Given the description of an element on the screen output the (x, y) to click on. 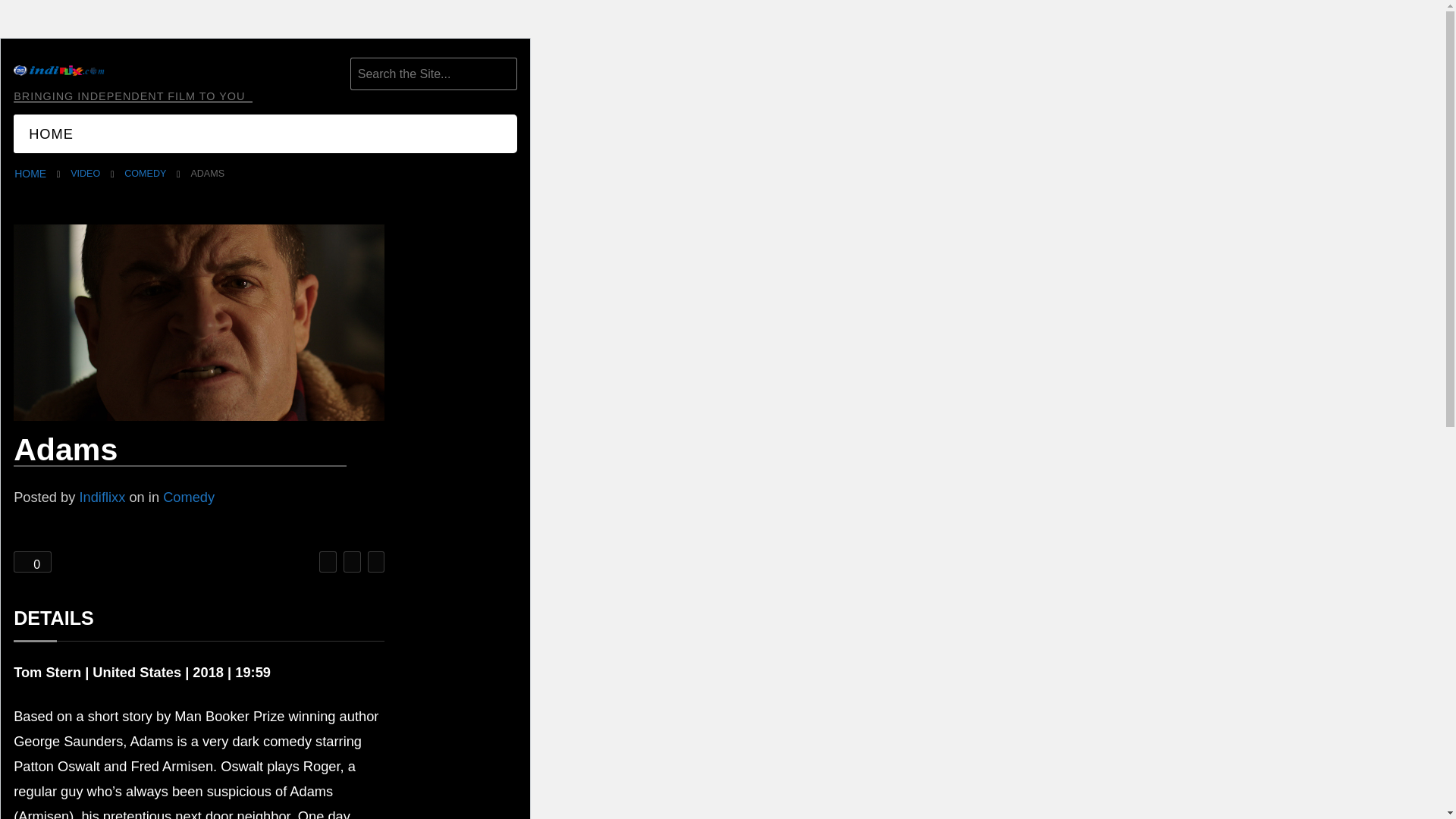
Bringing Independent Film To You (58, 70)
0 (31, 561)
Posts by Indiflixx (101, 496)
Comedy (188, 496)
VIDEO (84, 173)
HOME (30, 173)
Video (84, 173)
IndiFlixx.com (30, 173)
Indiflixx (101, 496)
Comedy (144, 173)
Share this post on Twitter! (327, 561)
HOME (50, 133)
COMEDY (144, 173)
Search (501, 79)
Search (501, 79)
